Given the description of an element on the screen output the (x, y) to click on. 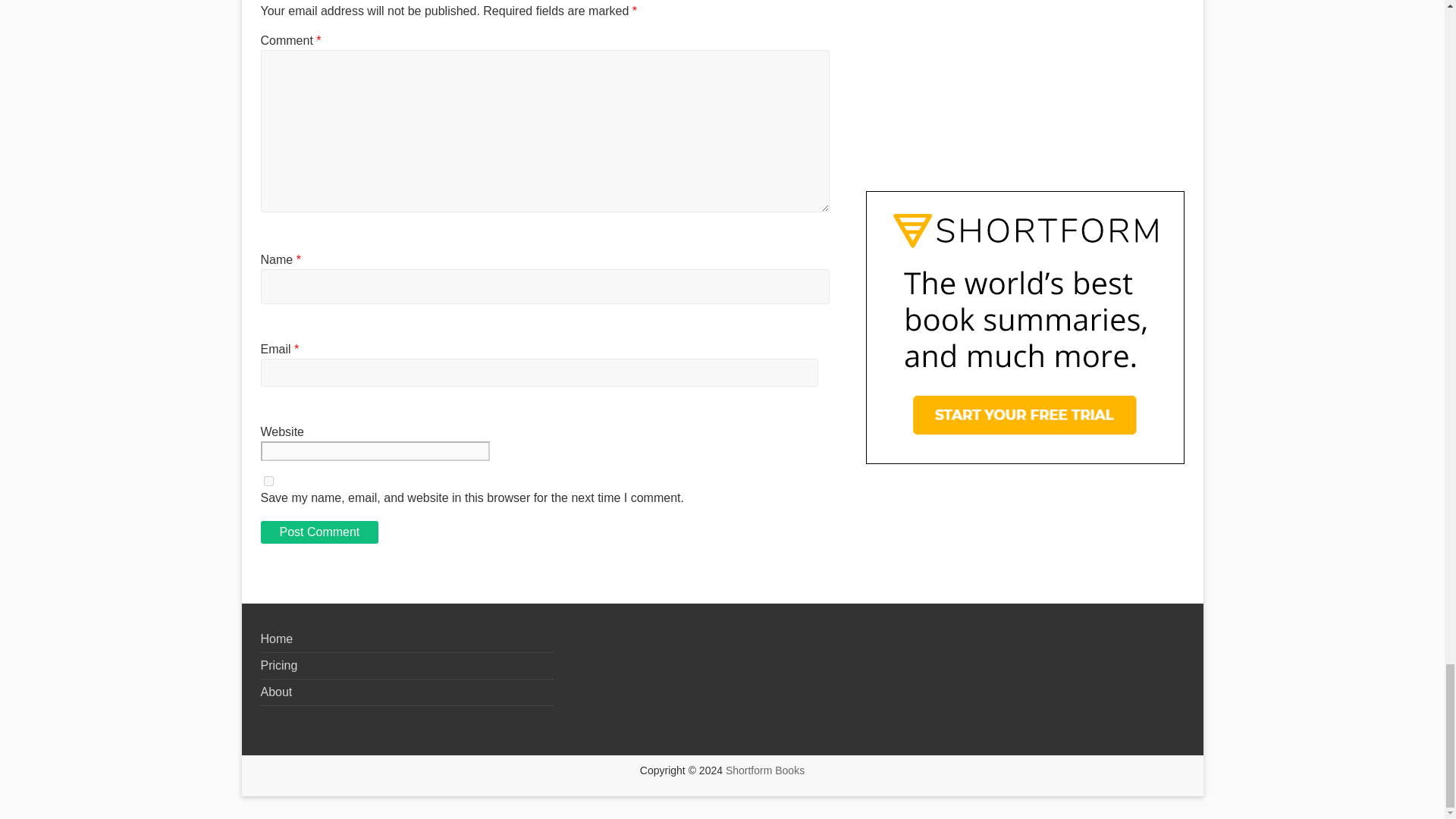
Post Comment (319, 531)
yes (268, 480)
